Given the description of an element on the screen output the (x, y) to click on. 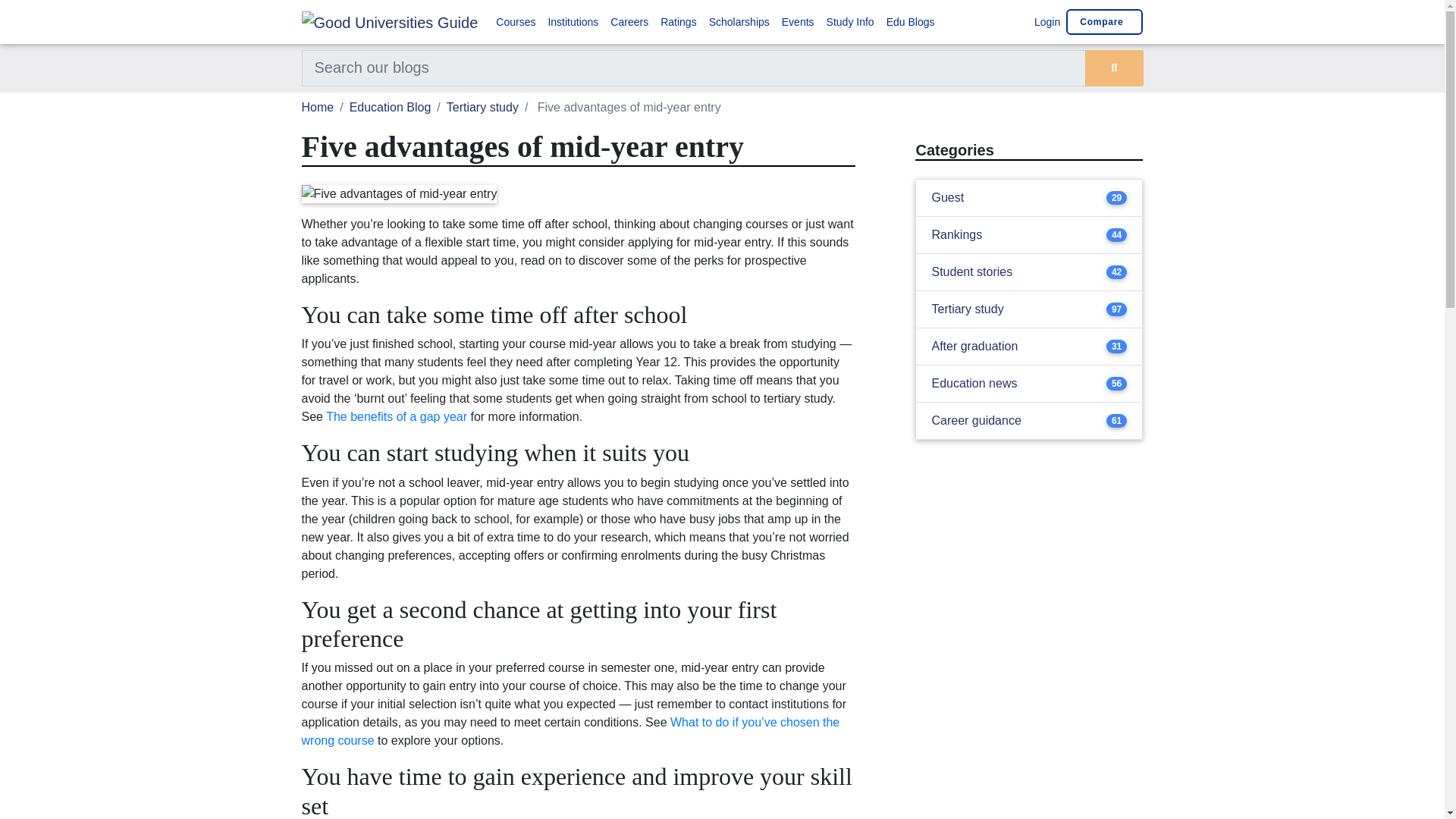
Courses (515, 21)
Home (317, 106)
After graduation (974, 346)
Student stories (971, 271)
Login (1045, 21)
Tertiary study (482, 106)
Events (798, 21)
Career guidance (975, 420)
Ratings (677, 21)
Education Blog (389, 106)
Guest (947, 198)
Rankings (956, 235)
The benefits of a gap year (396, 416)
Edu Blogs (910, 21)
Compare (1103, 22)
